Given the description of an element on the screen output the (x, y) to click on. 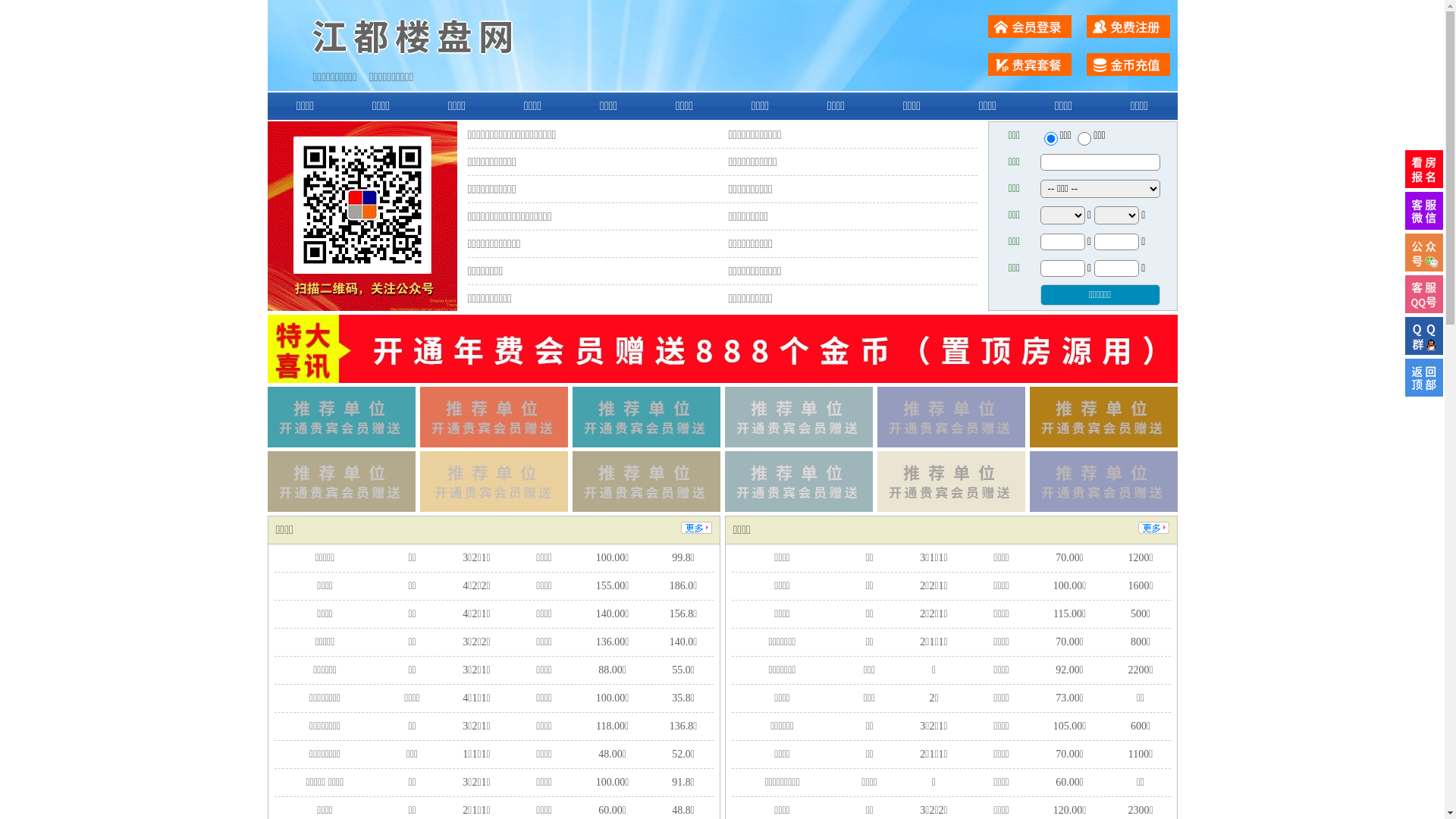
ershou Element type: text (1050, 138)
chuzu Element type: text (1084, 138)
